Given the description of an element on the screen output the (x, y) to click on. 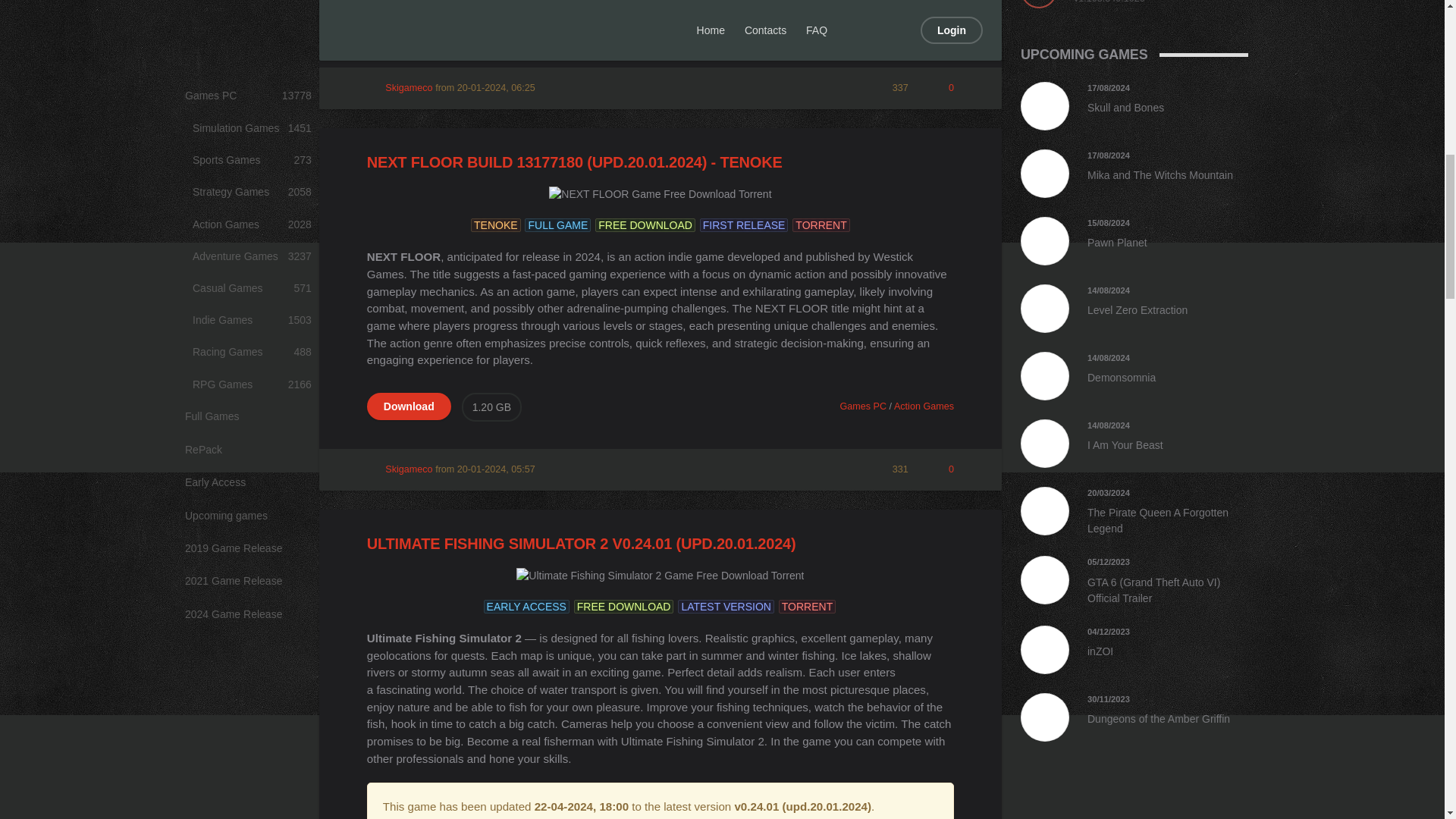
Views: 337 (890, 87)
Download: Far Lands (408, 24)
Comments: 0 (941, 87)
